Given the description of an element on the screen output the (x, y) to click on. 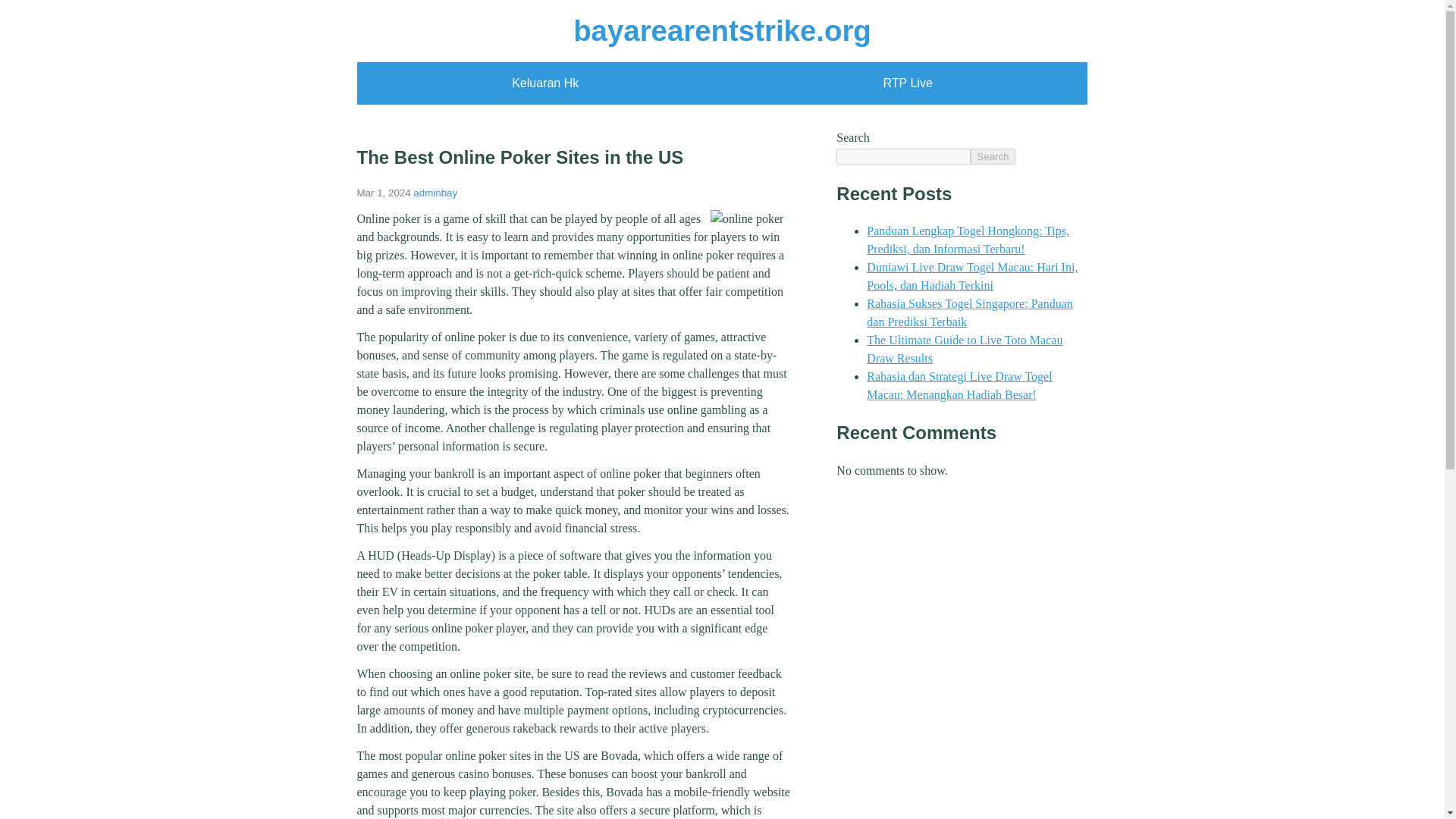
Rahasia Sukses Togel Singapore: Panduan dan Prediksi Terbaik (968, 312)
The Ultimate Guide to Live Toto Macau Draw Results (964, 348)
RTP Live (908, 82)
Search (992, 156)
bayarearentstrike.org (721, 30)
Keluaran Hk (545, 82)
adminbay (435, 193)
